Given the description of an element on the screen output the (x, y) to click on. 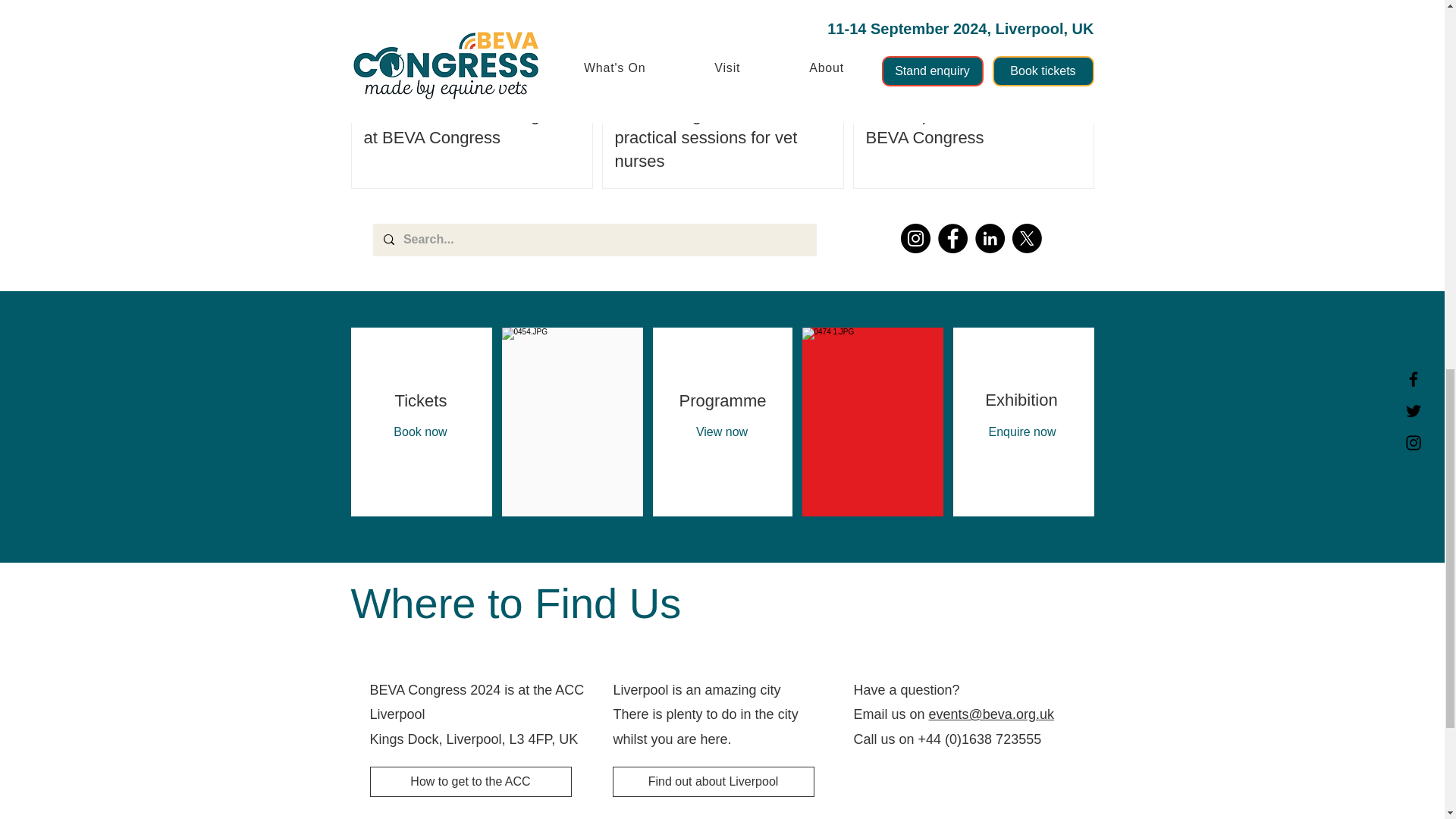
Wetlab practicals come to BEVA Congress (973, 126)
BEVA Congress introduces practical sessions for vet nurses (721, 137)
Enquire now (1021, 431)
Book now (419, 431)
How to get to the ACC (470, 781)
Social licence on the agenda at BEVA Congress (471, 126)
View now (721, 431)
Find out about Liverpool (712, 781)
